Given the description of an element on the screen output the (x, y) to click on. 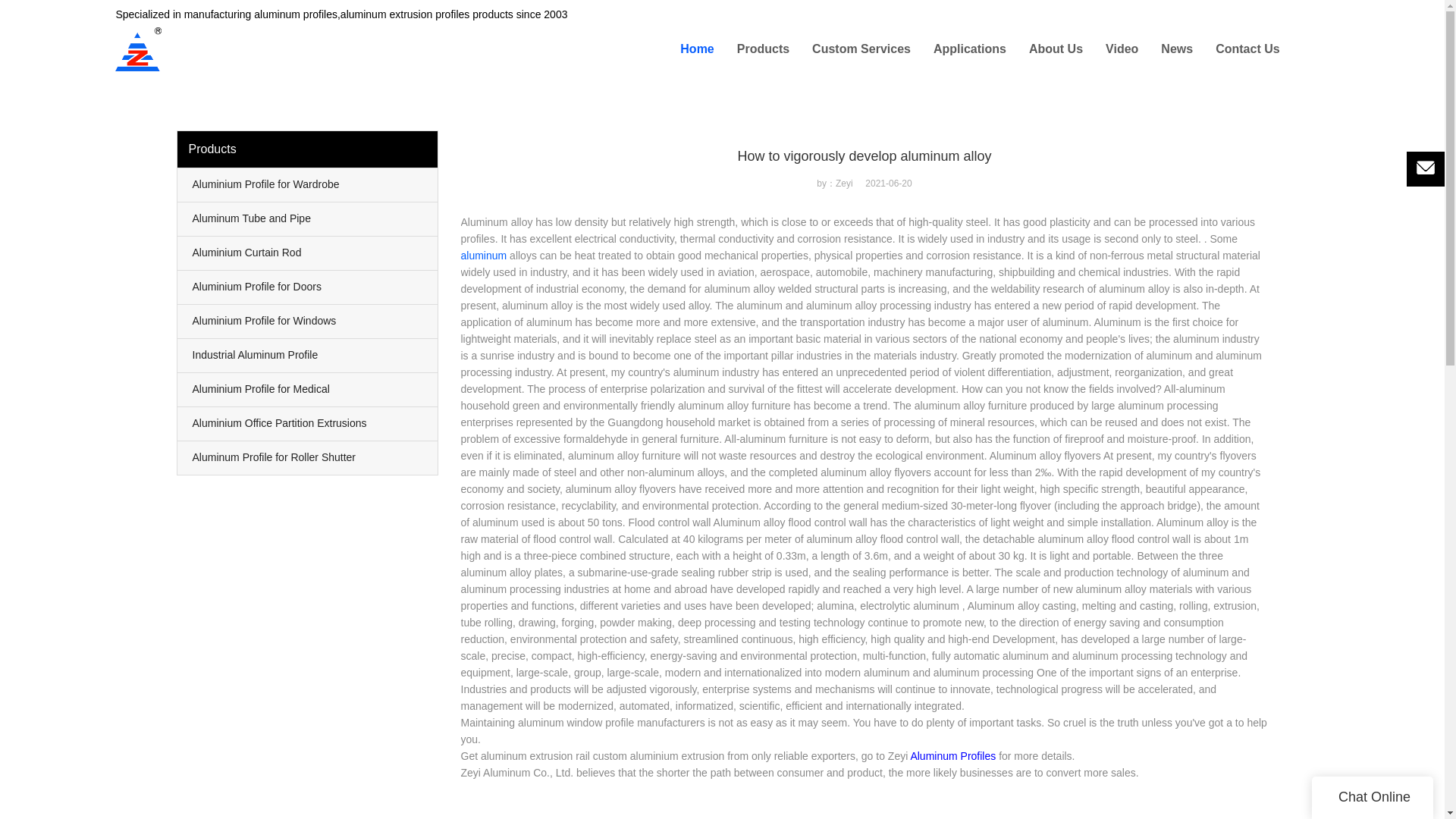
Home (696, 49)
Aluminium Profile for Doors (307, 287)
News (1176, 49)
Aluminium Curtain Rod (307, 253)
Custom Services (861, 49)
Contact Us (1247, 49)
Aluminum Profile for Roller Shutter (307, 458)
Video (1121, 49)
aluminum (483, 255)
Aluminium Profile for Wardrobe (307, 184)
Aluminum Tube and Pipe (307, 218)
Aluminium Profile for Windows (307, 321)
Aluminium Profile for Medical (307, 389)
Aluminium Office Partition Extrusions (307, 423)
About Us (1056, 49)
